Given the description of an element on the screen output the (x, y) to click on. 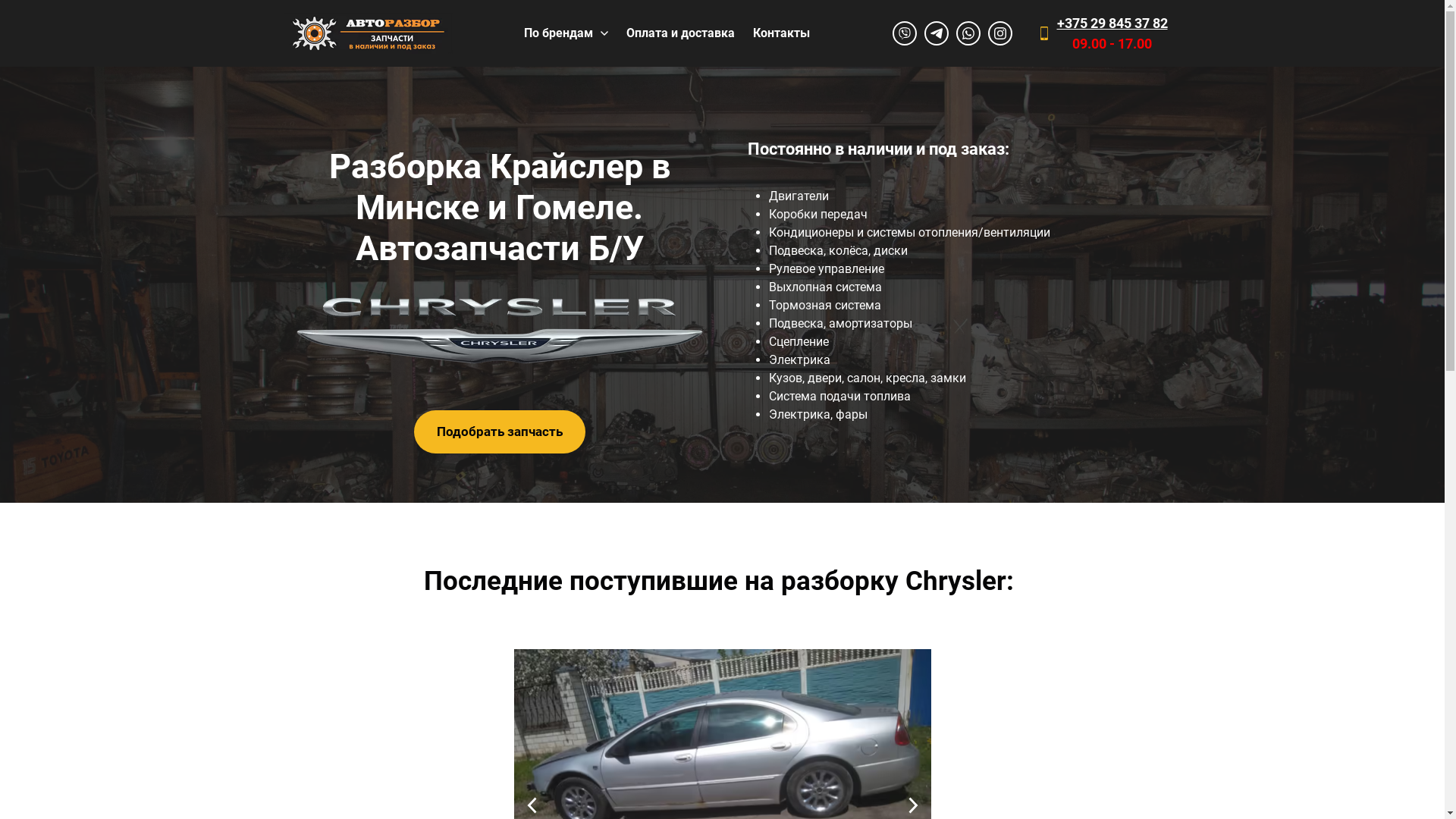
+375 29 845 37 82 Element type: text (1112, 23)
